Given the description of an element on the screen output the (x, y) to click on. 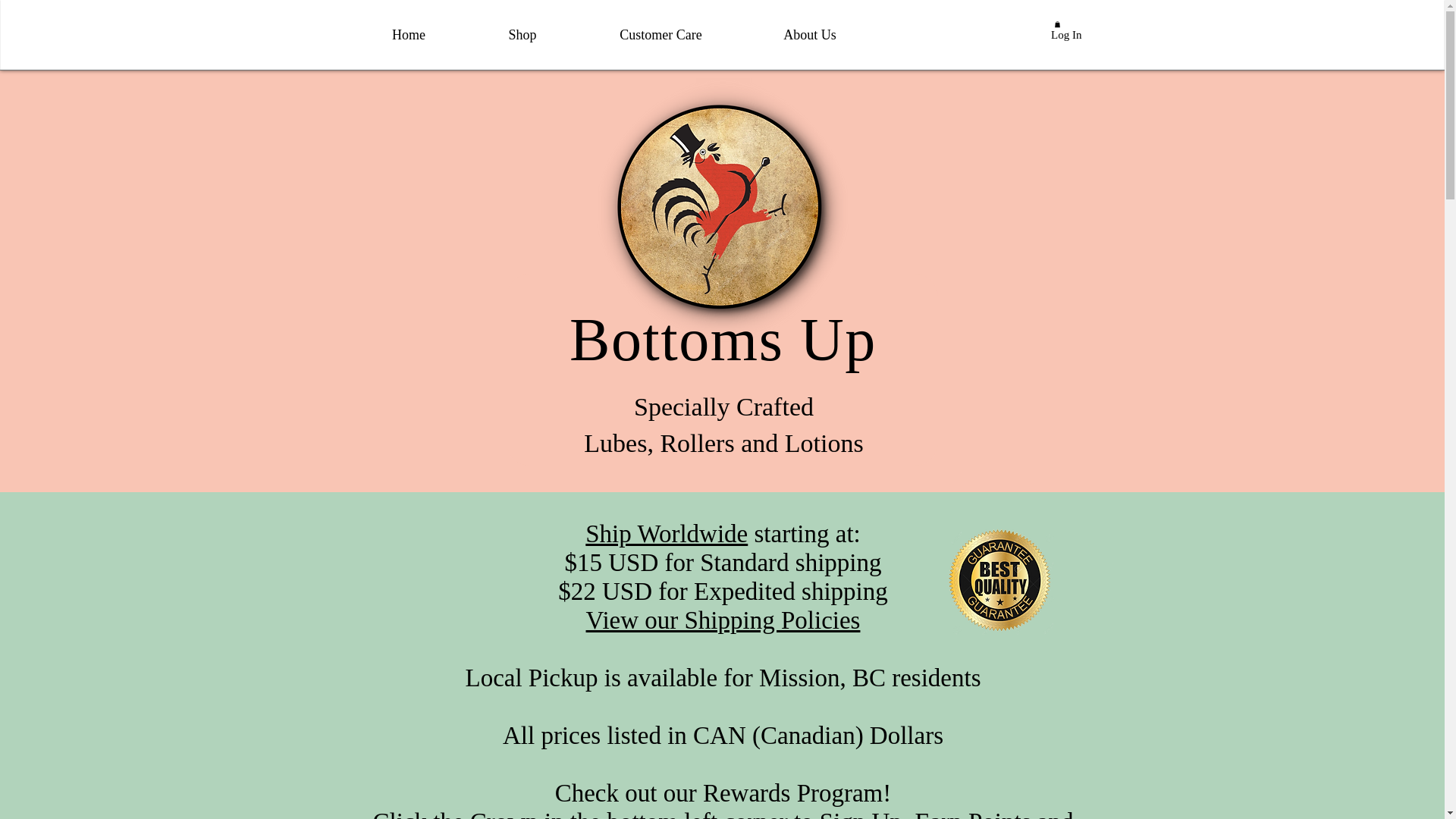
Shop (522, 34)
About Us (809, 34)
Log In (1051, 34)
Ship Worldwide (666, 533)
Home (407, 34)
View our Shipping Policies (723, 619)
Customer Care (660, 34)
